Given the description of an element on the screen output the (x, y) to click on. 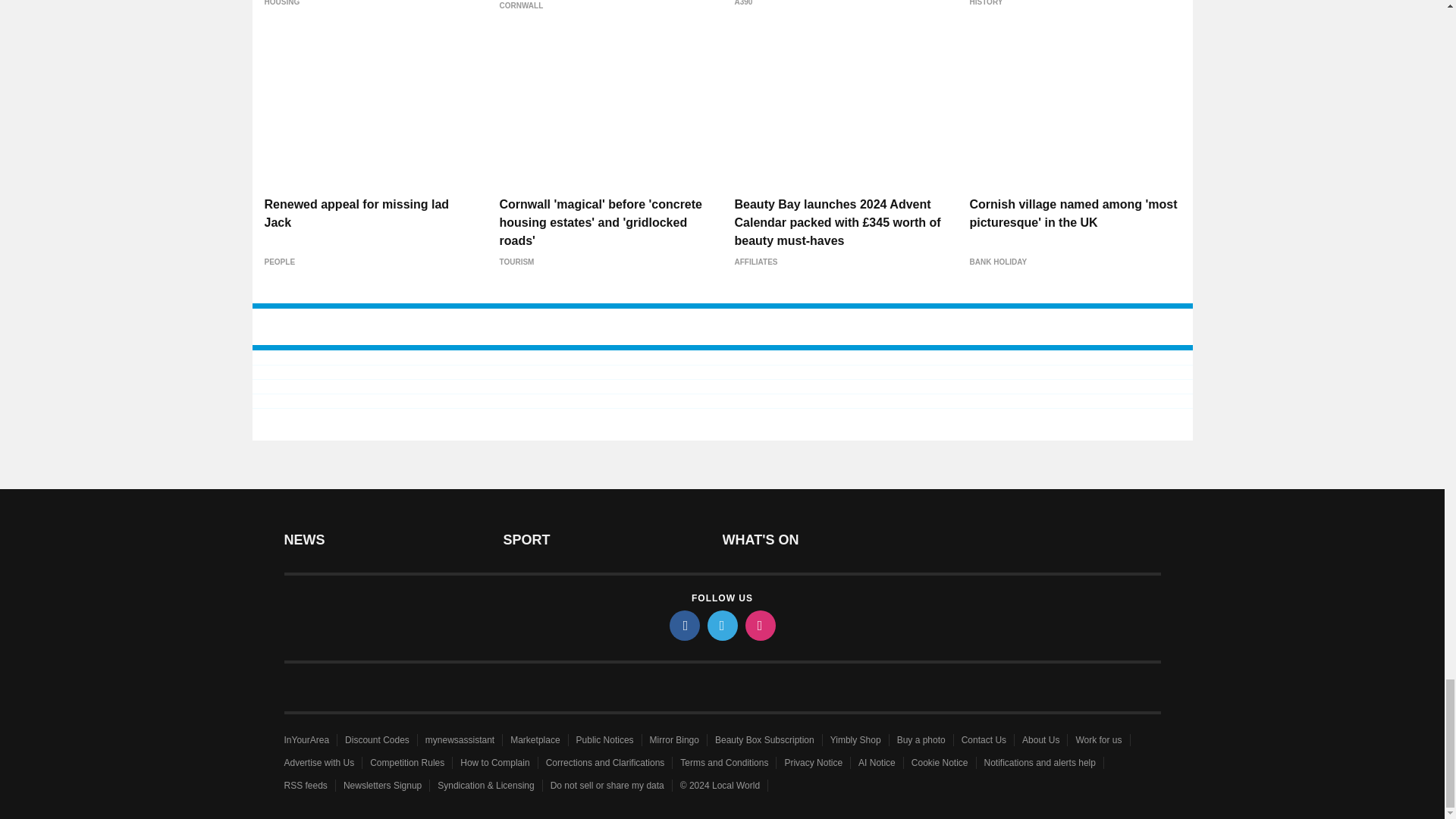
facebook (683, 625)
twitter (721, 625)
instagram (759, 625)
